Given the description of an element on the screen output the (x, y) to click on. 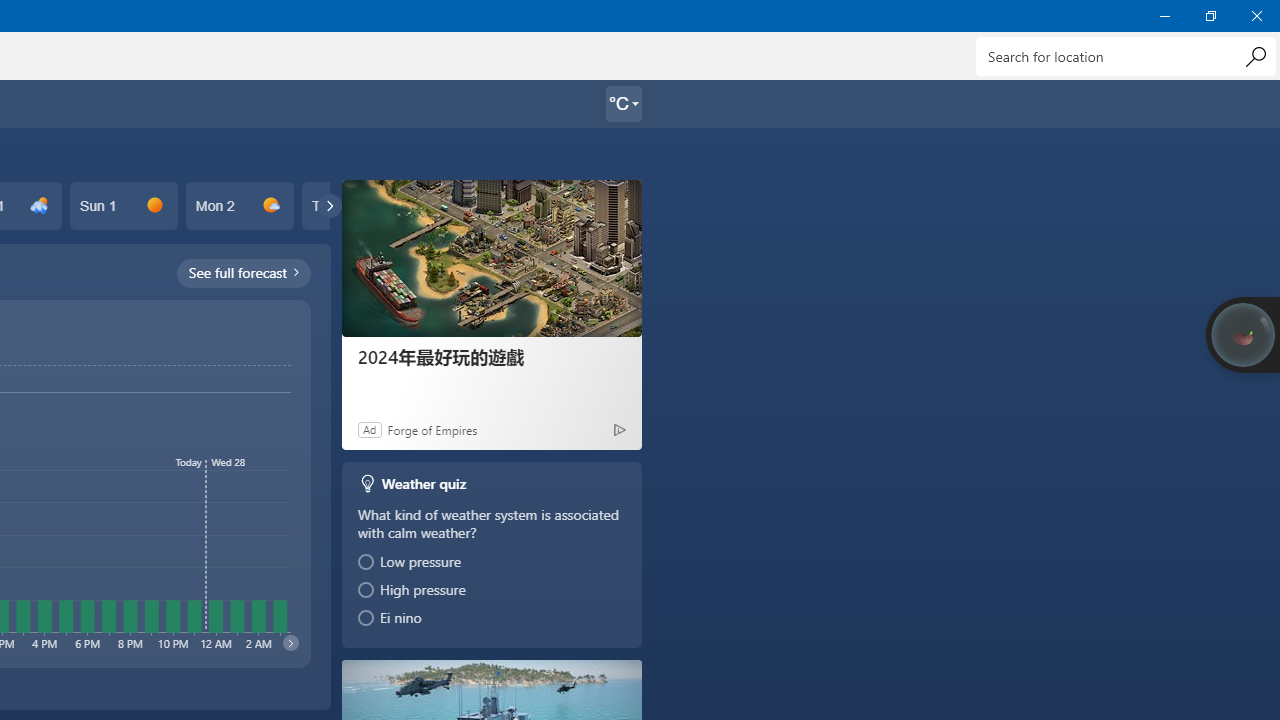
Search (1255, 56)
Close Weather (1256, 15)
Search for location (1125, 56)
Minimize Weather (1164, 15)
Restore Weather (1210, 15)
